Given the description of an element on the screen output the (x, y) to click on. 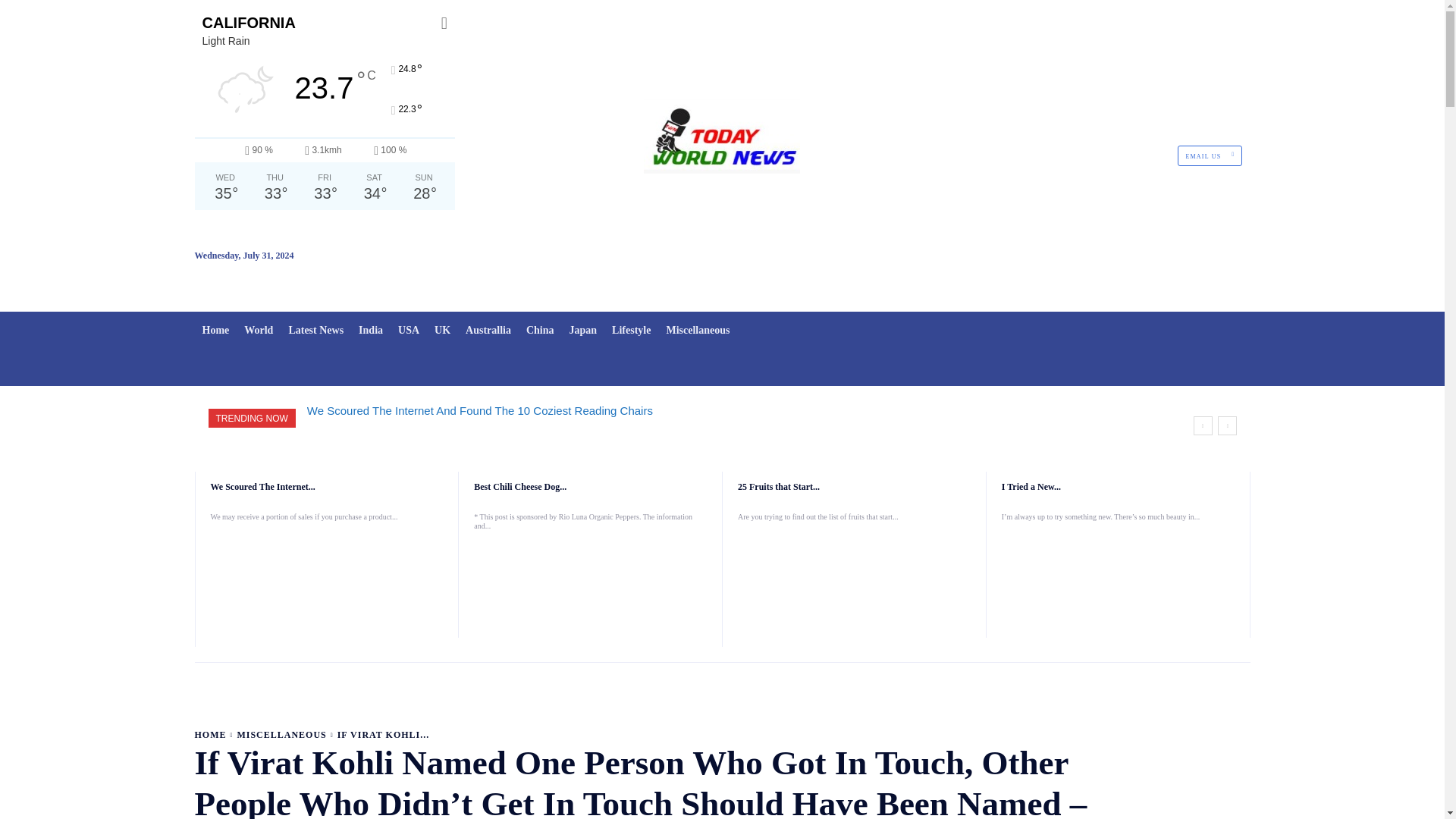
Latest News (315, 330)
Home (214, 330)
World (258, 330)
EMAIL US (1209, 155)
